Given the description of an element on the screen output the (x, y) to click on. 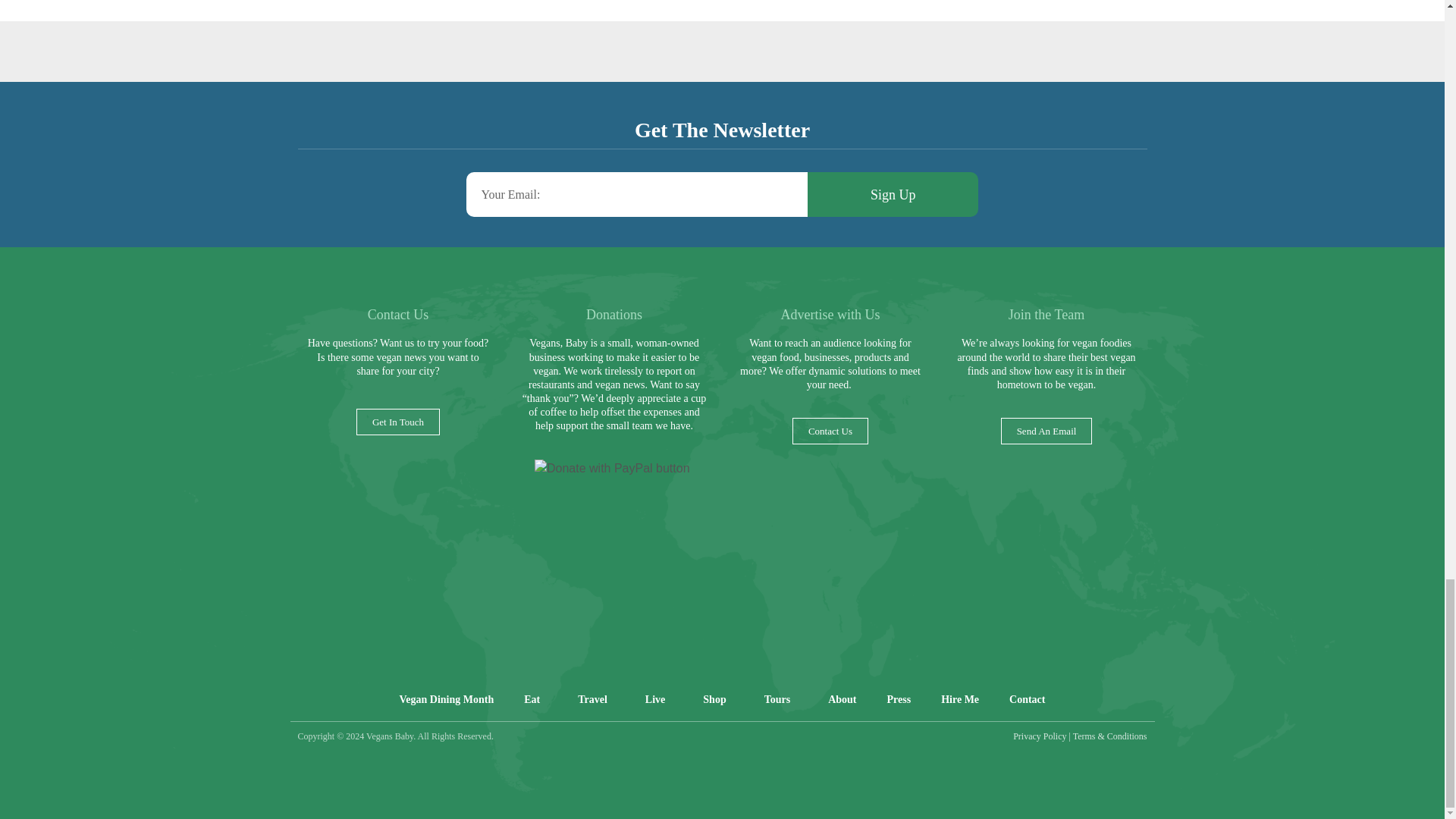
PayPal - The safer, easier way to pay online! (612, 468)
